Given the description of an element on the screen output the (x, y) to click on. 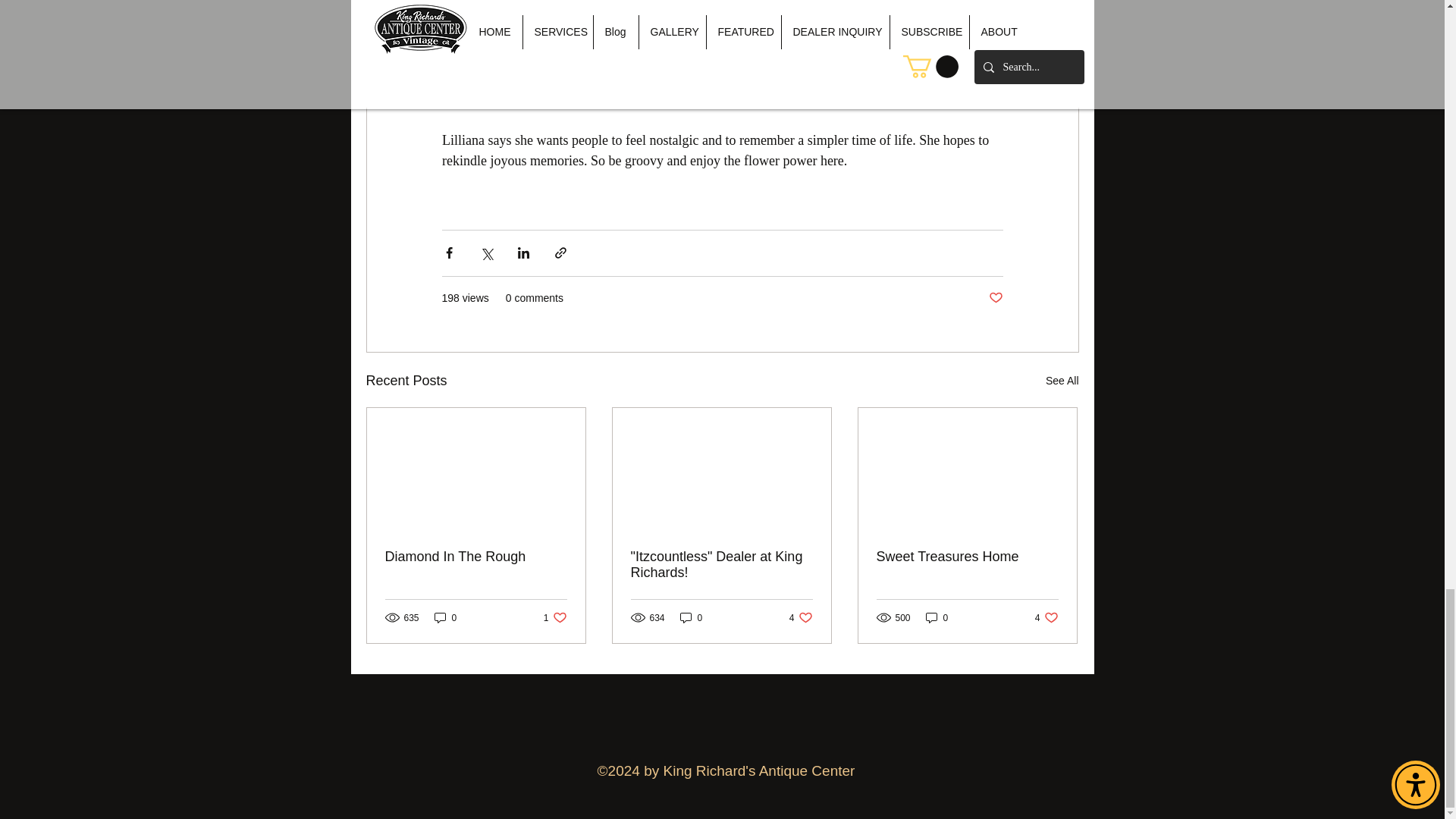
Post not marked as liked (1046, 617)
Sweet Treasures Home (995, 298)
See All (967, 556)
0 (555, 617)
"Itzcountless" Dealer at King Richards! (1061, 381)
Diamond In The Rough (937, 617)
0 (721, 564)
0 (476, 556)
